Given the description of an element on the screen output the (x, y) to click on. 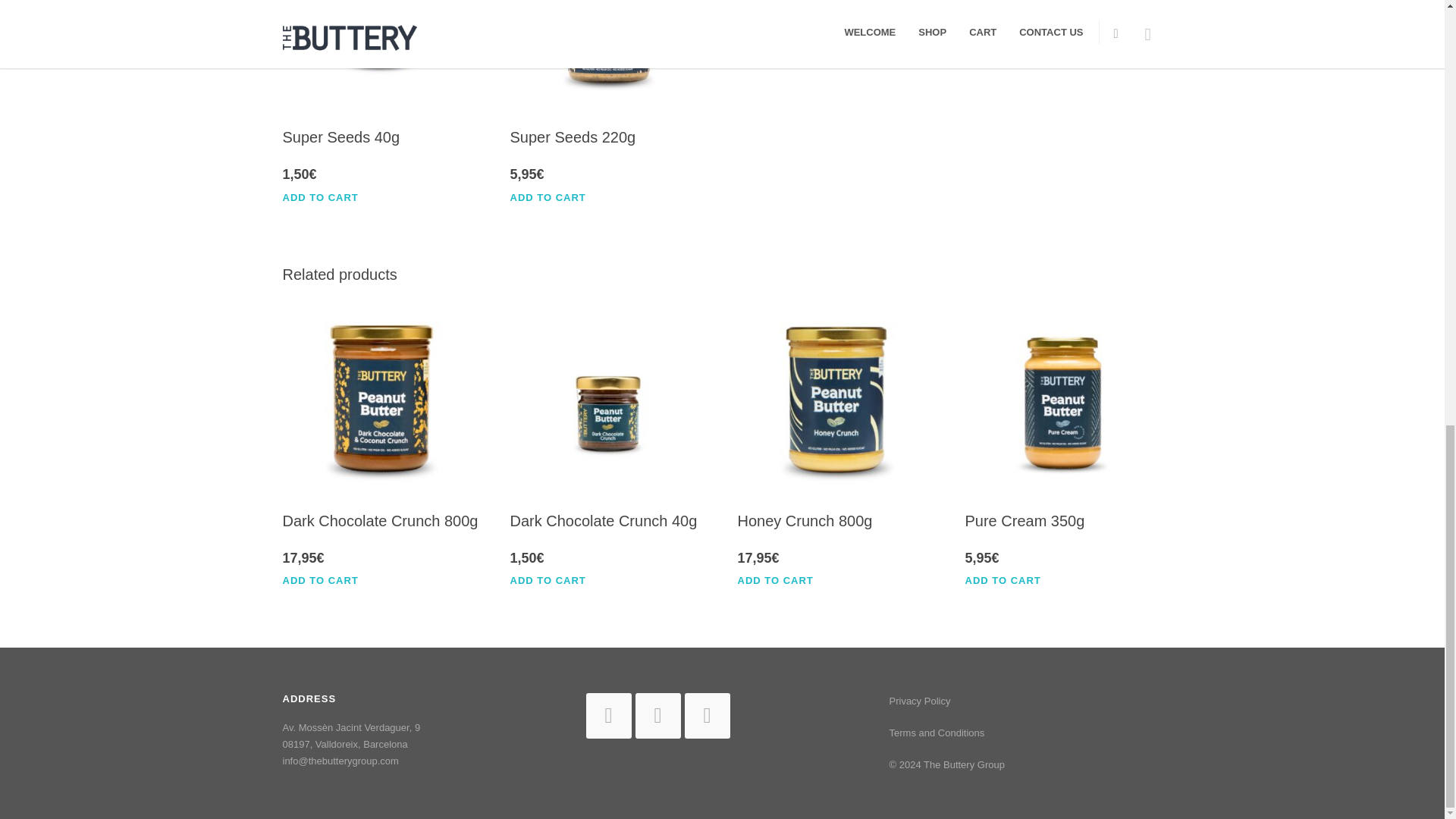
ADD TO CART (327, 197)
